Given the description of an element on the screen output the (x, y) to click on. 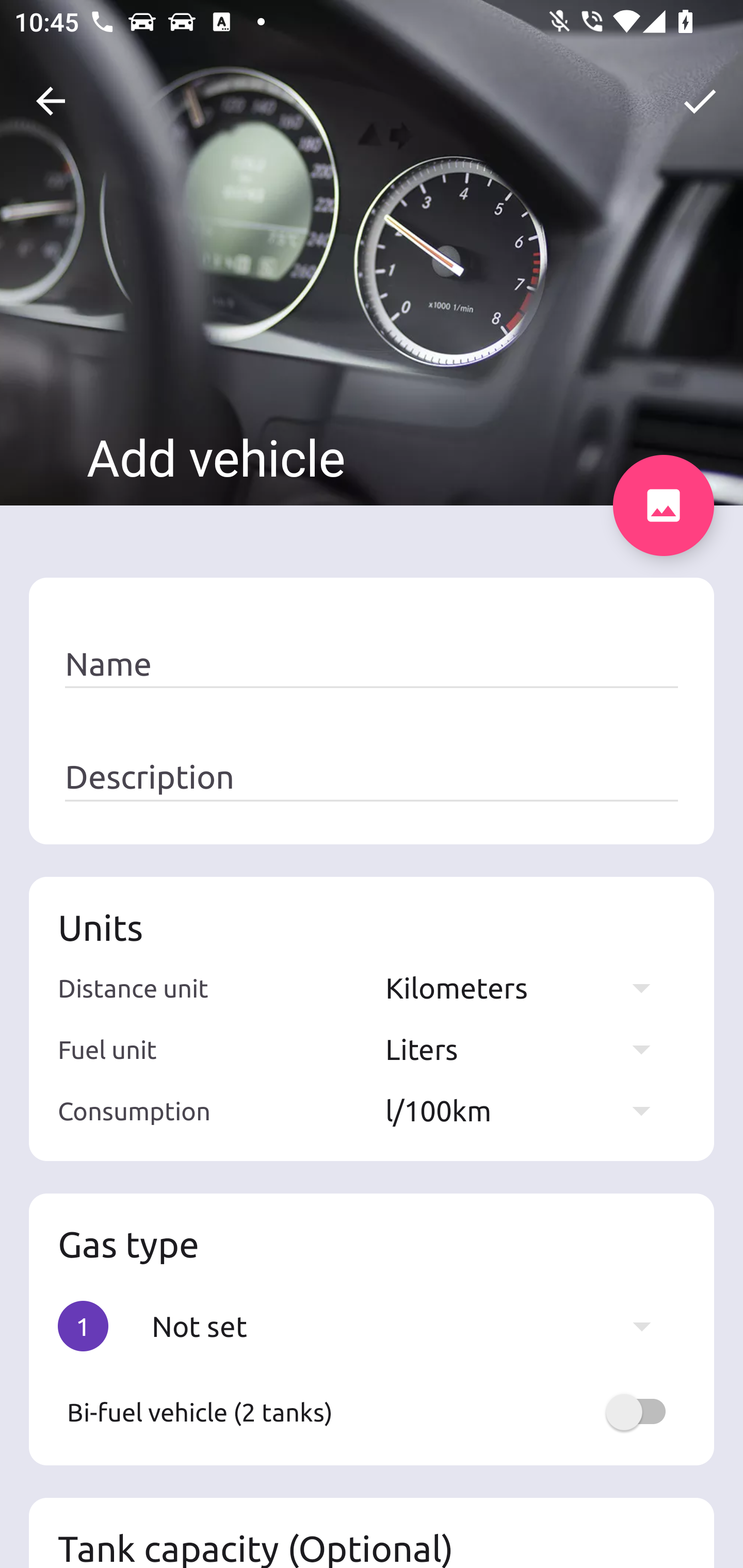
Navigate up (50, 101)
OK (699, 101)
Name (371, 664)
Description (371, 777)
Kilometers (527, 987)
Liters (527, 1048)
l/100km (527, 1110)
Not set (411, 1325)
Bi-fuel vehicle (2 tanks) (371, 1411)
